Given the description of an element on the screen output the (x, y) to click on. 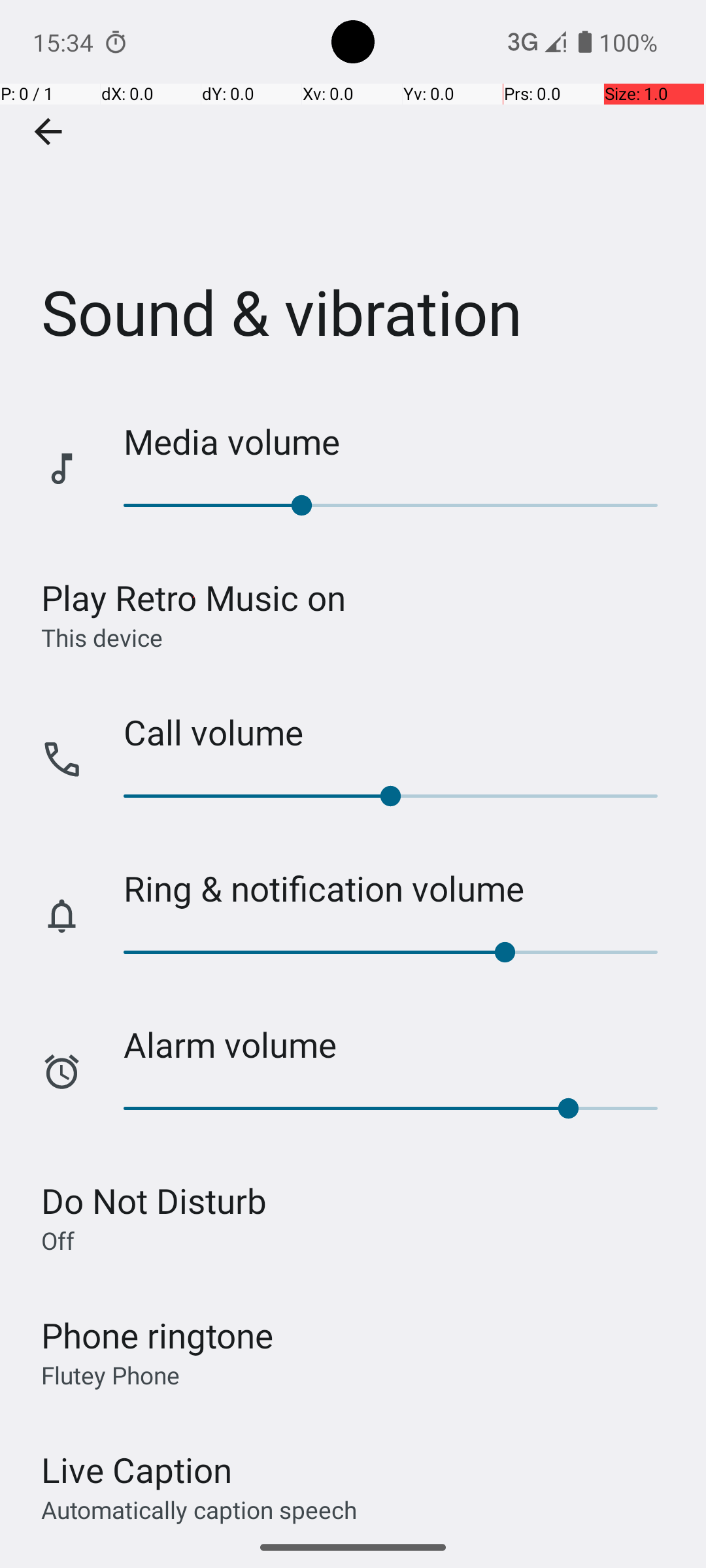
Media volume Element type: android.widget.TextView (400, 441)
Play Retro Music on Element type: android.widget.TextView (193, 597)
This device Element type: android.widget.TextView (101, 636)
Call volume Element type: android.widget.TextView (400, 731)
Ring & notification volume Element type: android.widget.TextView (400, 888)
Alarm volume Element type: android.widget.TextView (400, 1044)
Do Not Disturb Element type: android.widget.TextView (153, 1200)
Phone ringtone Element type: android.widget.TextView (157, 1334)
Flutey Phone Element type: android.widget.TextView (110, 1374)
Live Caption Element type: android.widget.TextView (136, 1469)
Automatically caption speech Element type: android.widget.TextView (199, 1509)
